Given the description of an element on the screen output the (x, y) to click on. 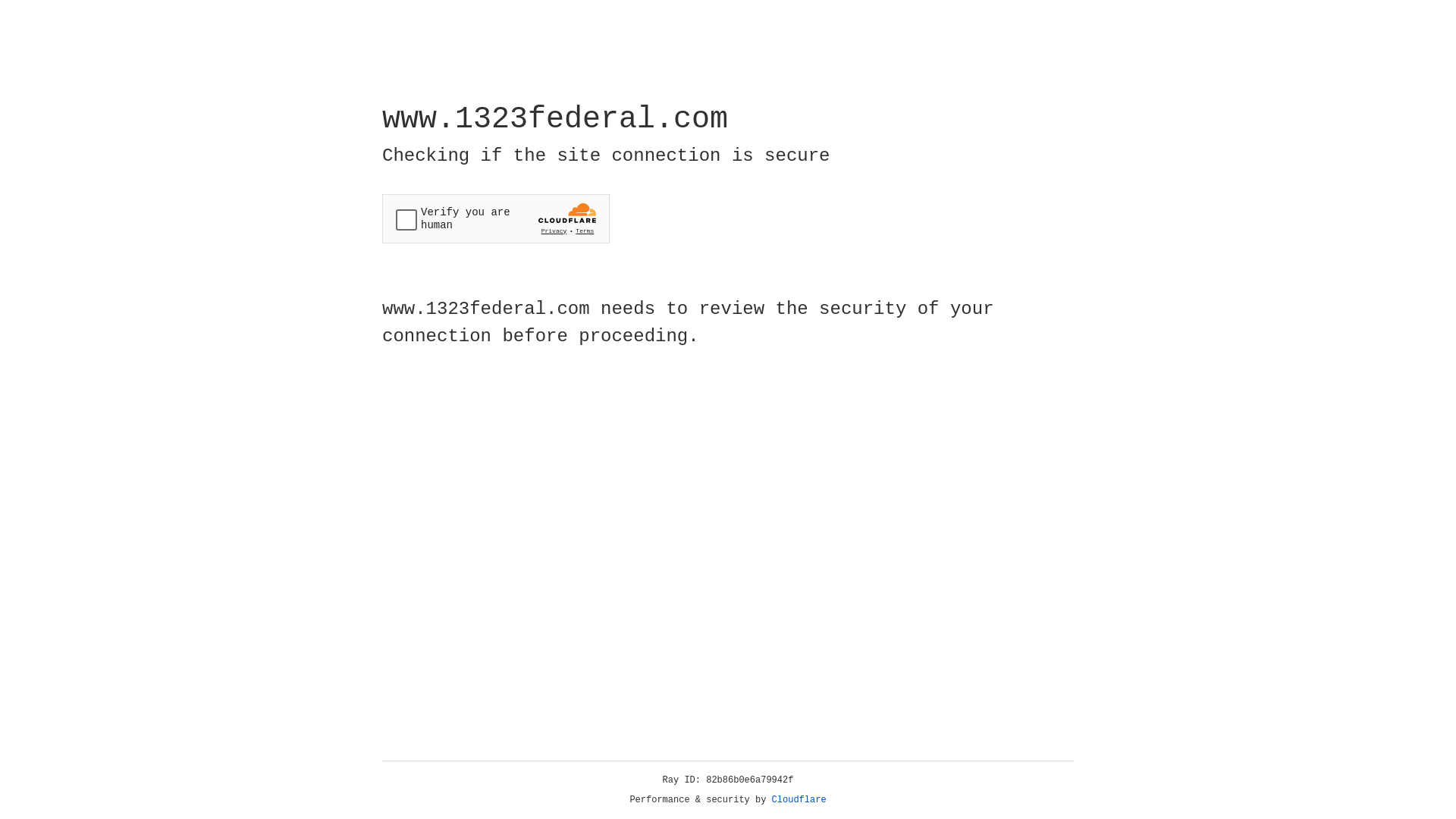
Widget containing a Cloudflare security challenge Element type: hover (495, 218)
Cloudflare Element type: text (798, 799)
